Given the description of an element on the screen output the (x, y) to click on. 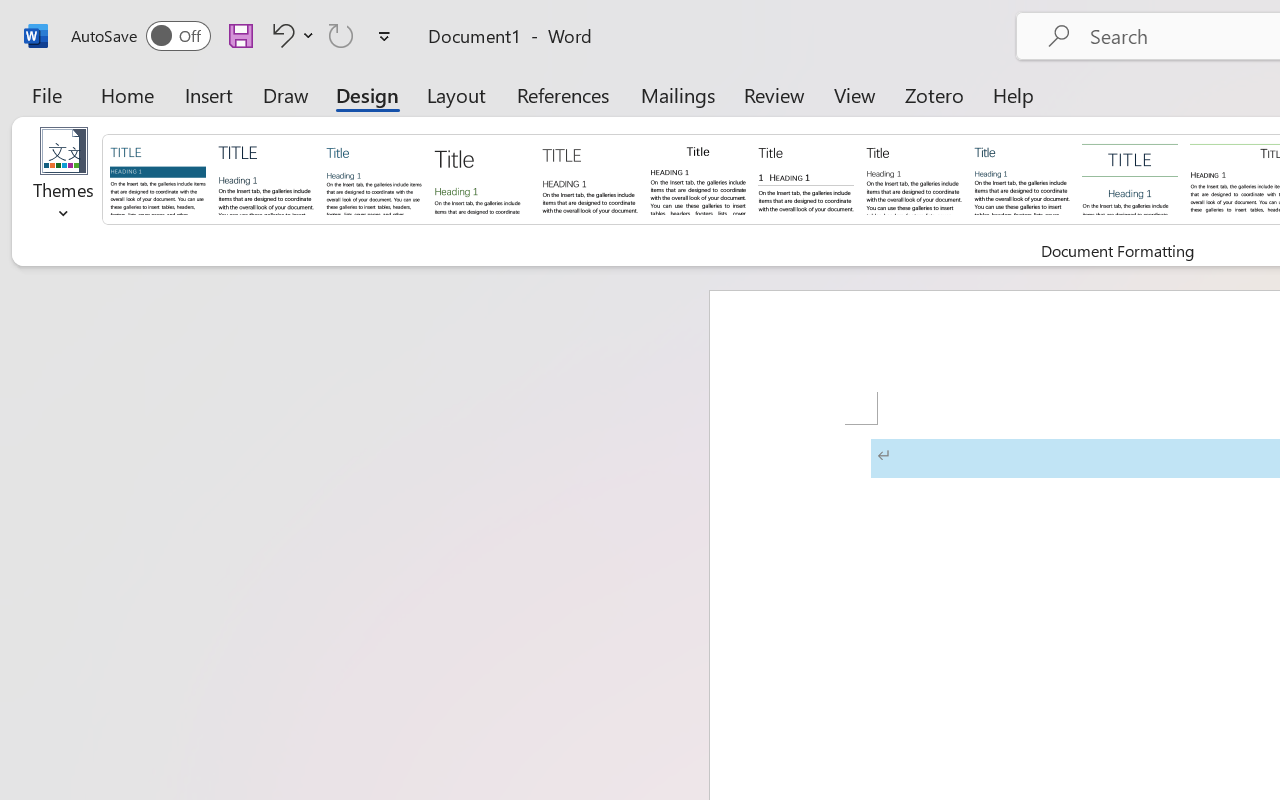
Black & White (Word 2013) (913, 178)
Basic (Elegant) (266, 178)
Centered (1130, 178)
Basic (Stylish) (481, 178)
